Given the description of an element on the screen output the (x, y) to click on. 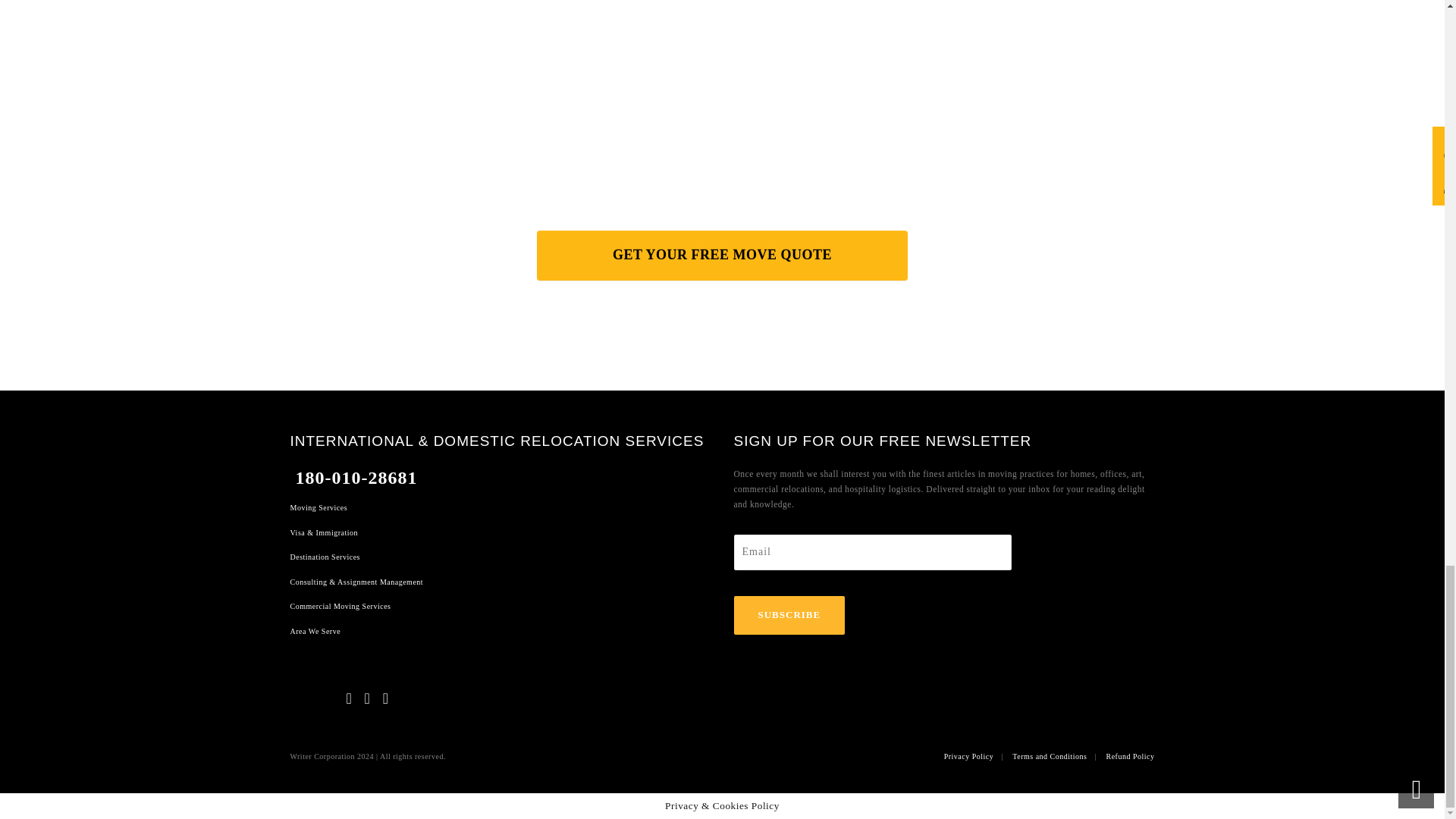
SUBSCRIBE (789, 615)
